Given the description of an element on the screen output the (x, y) to click on. 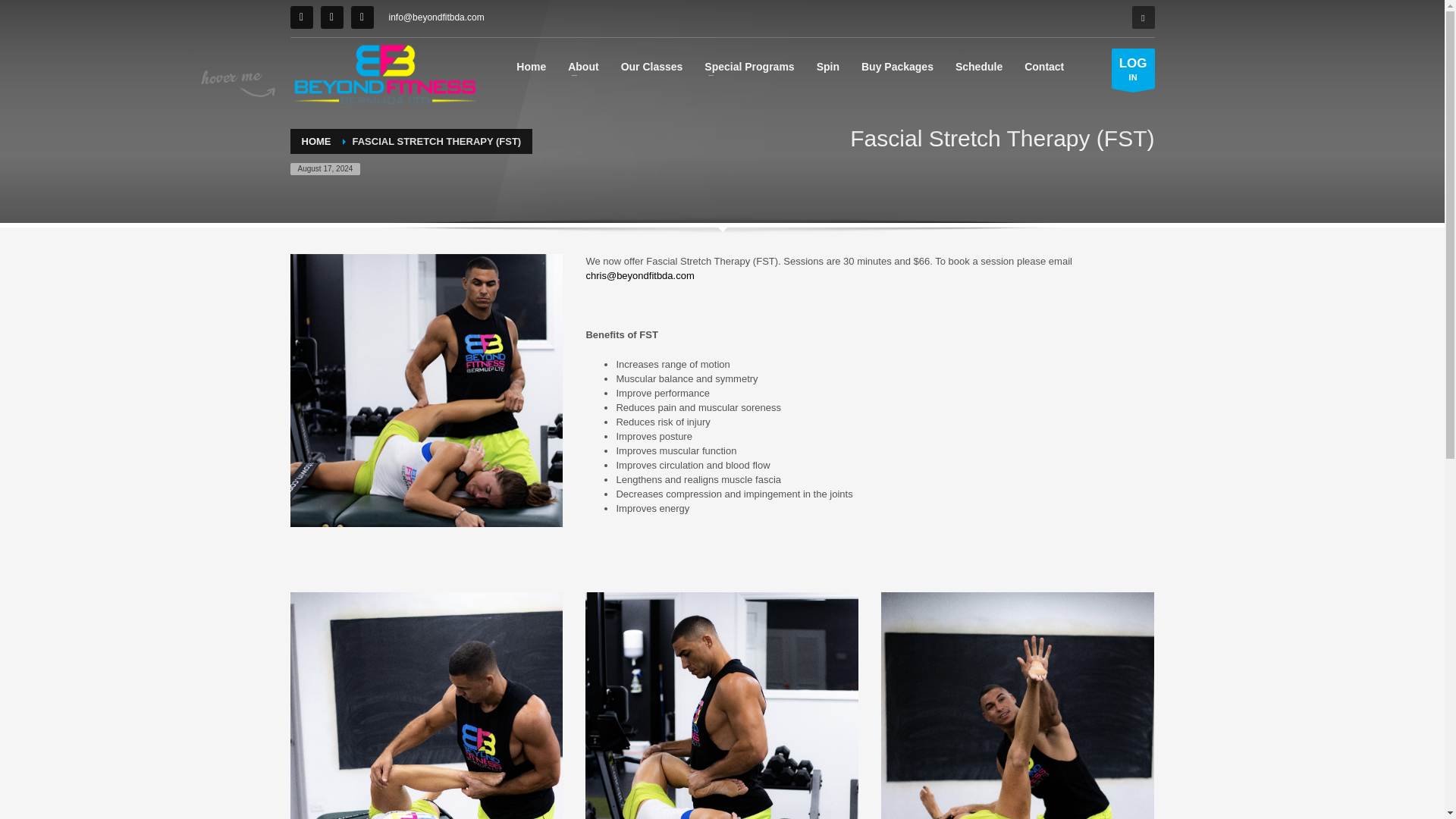
Youtube (331, 16)
Instagram (361, 16)
Spin (828, 66)
Contact (1043, 66)
About (583, 66)
Buy Packages (896, 66)
Our Classes (652, 66)
Special Programs (749, 66)
HOME (1133, 68)
